Given the description of an element on the screen output the (x, y) to click on. 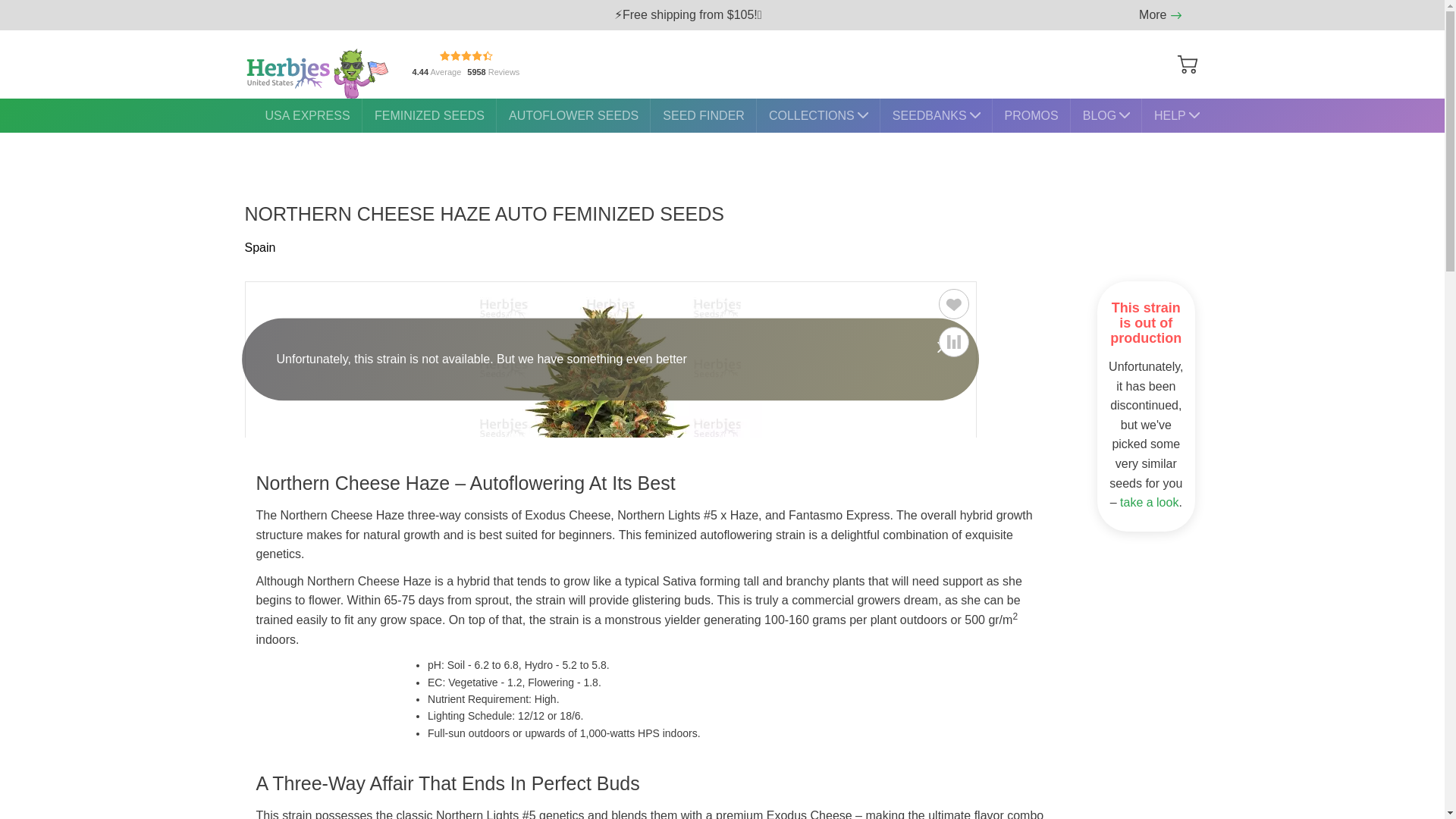
AUTOFLOWER SEEDS (573, 115)
FEMINIZED SEEDS (429, 115)
SEED FINDER (703, 115)
USA EXPRESS (465, 63)
